Given the description of an element on the screen output the (x, y) to click on. 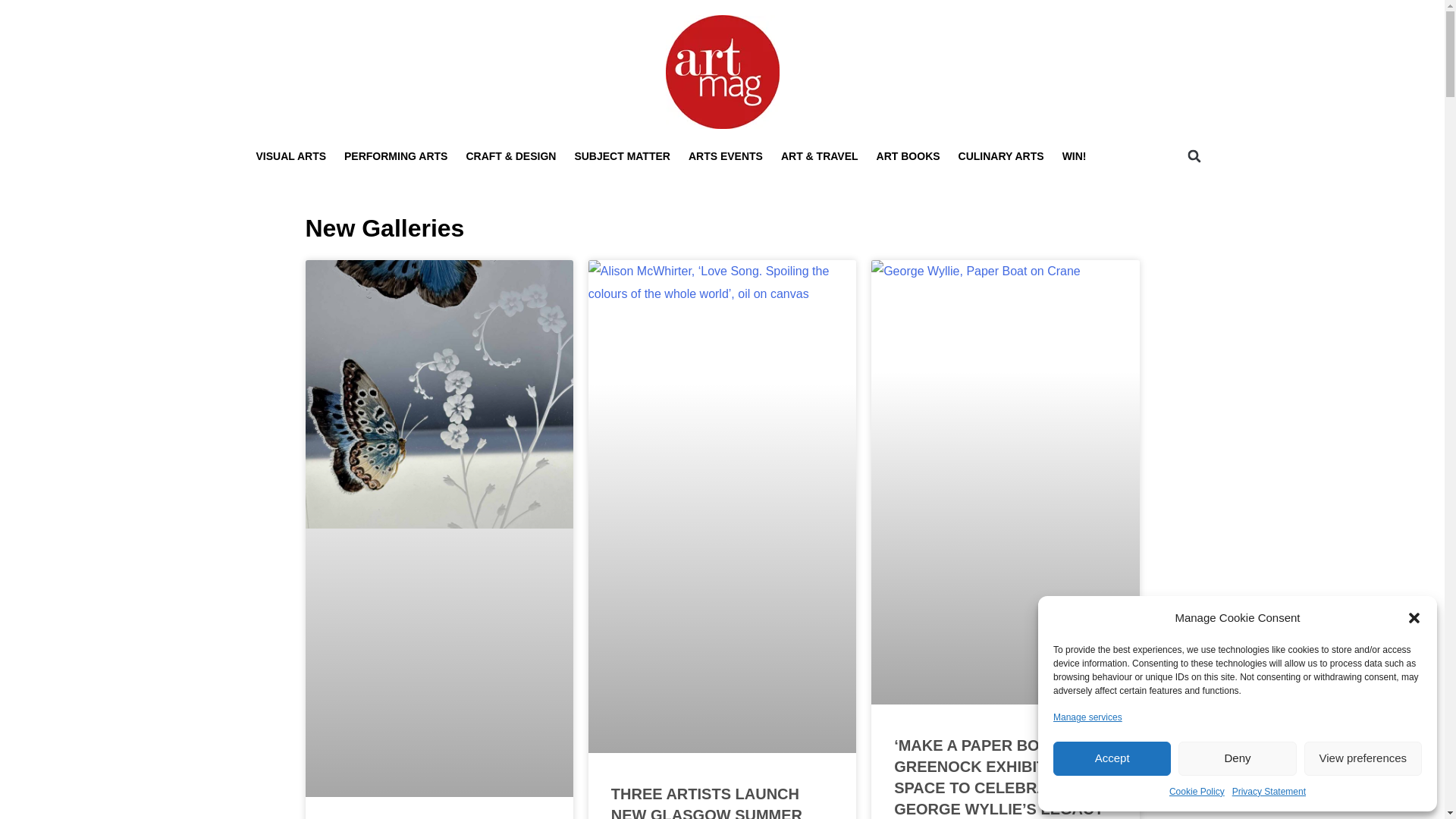
Cookie Policy (1196, 791)
WIN! (1074, 156)
View preferences (1363, 758)
ARTS EVENTS (725, 156)
Accept (1111, 758)
Manage services (1087, 717)
SUBJECT MATTER (622, 156)
Deny (1236, 758)
CULINARY ARTS (1000, 156)
ART BOOKS (908, 156)
